Given the description of an element on the screen output the (x, y) to click on. 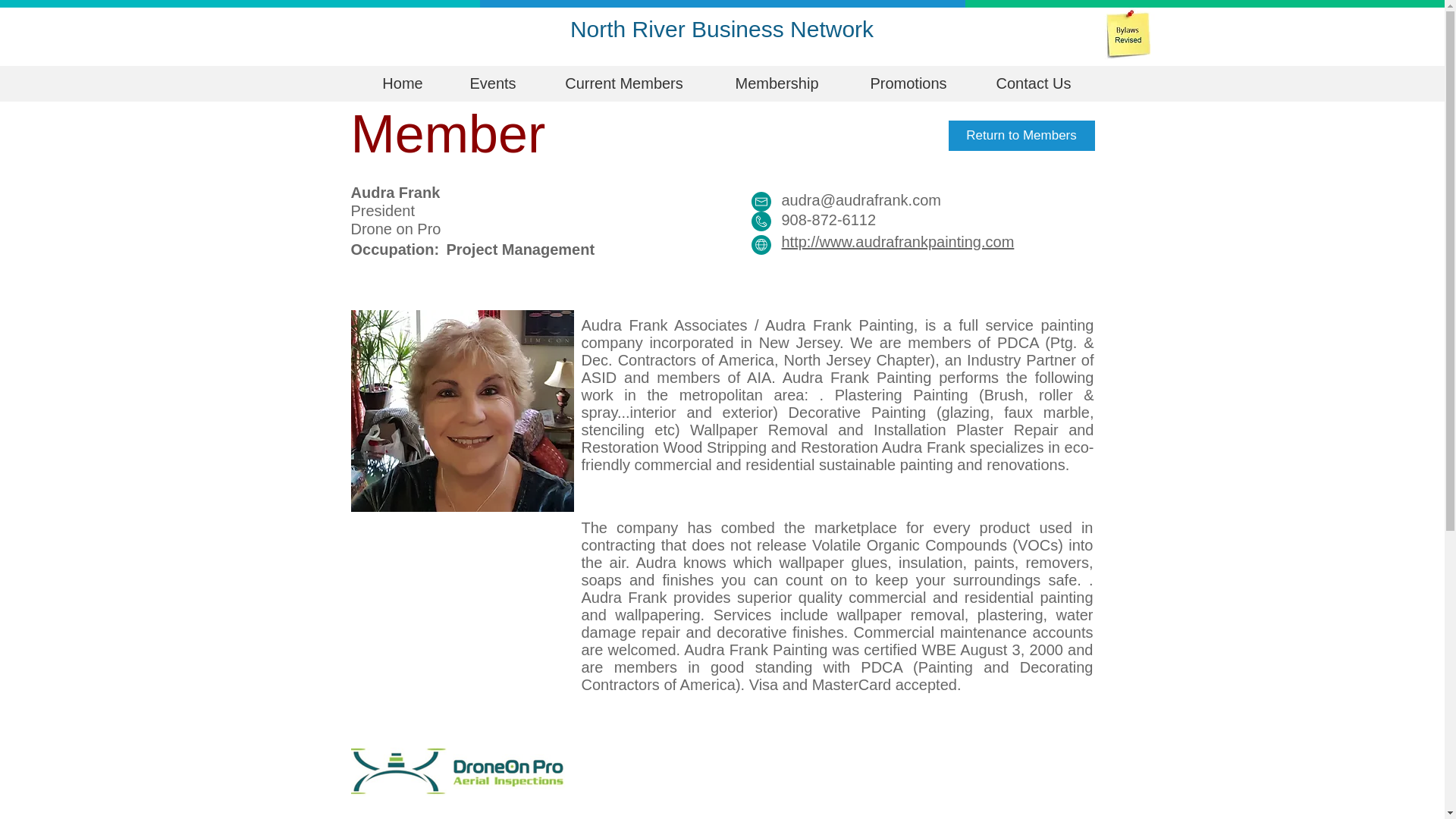
Events (492, 83)
DroneonProSquare.png (461, 760)
Contact Us (1033, 83)
Promotions (908, 83)
Return to Members (1020, 135)
AudraFrankImage.jpeg (461, 410)
Current Members (623, 83)
North River  (630, 28)
Membership (777, 83)
Home (402, 83)
